Given the description of an element on the screen output the (x, y) to click on. 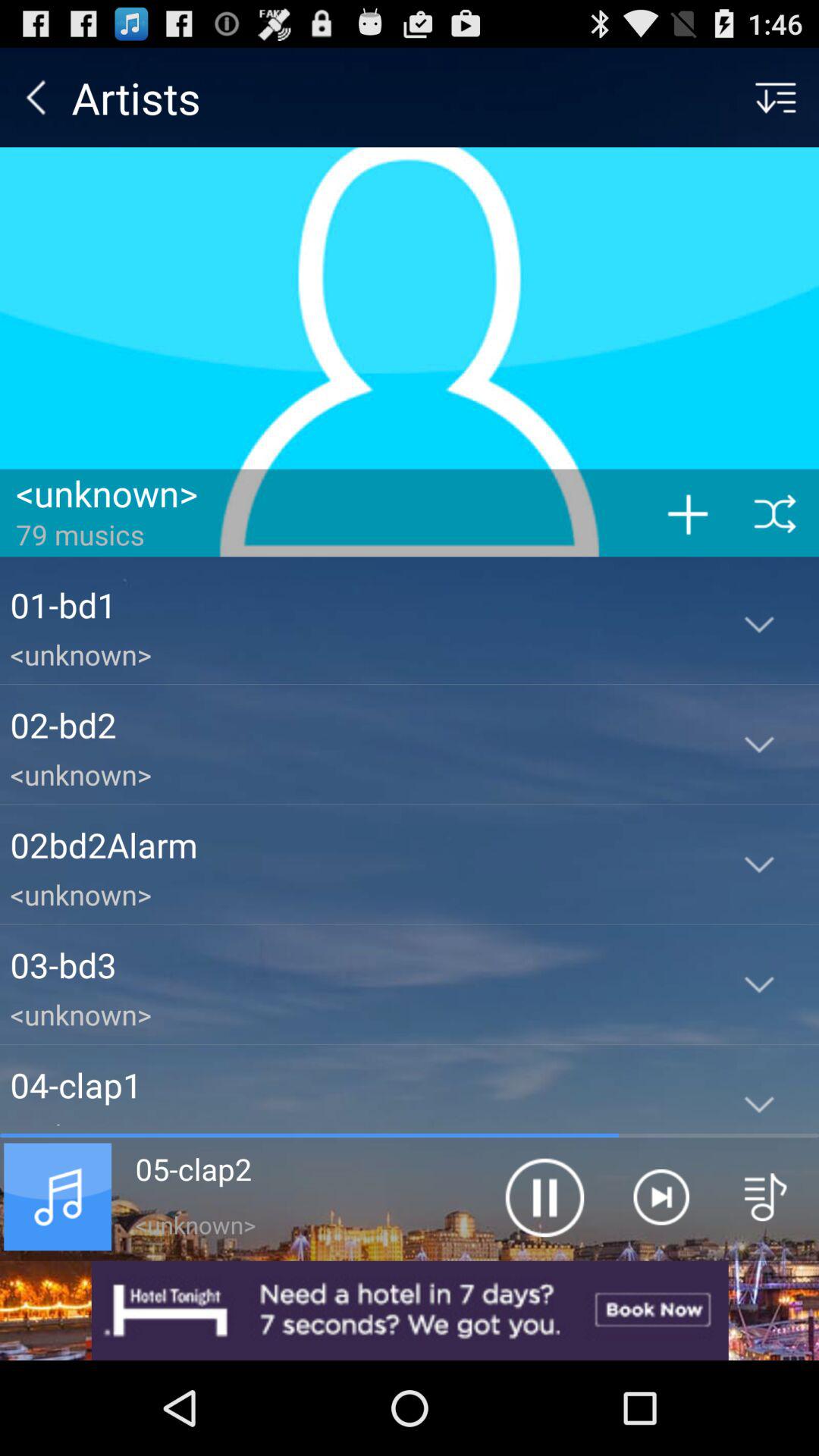
launch the item to the left of artists item (35, 97)
